Given the description of an element on the screen output the (x, y) to click on. 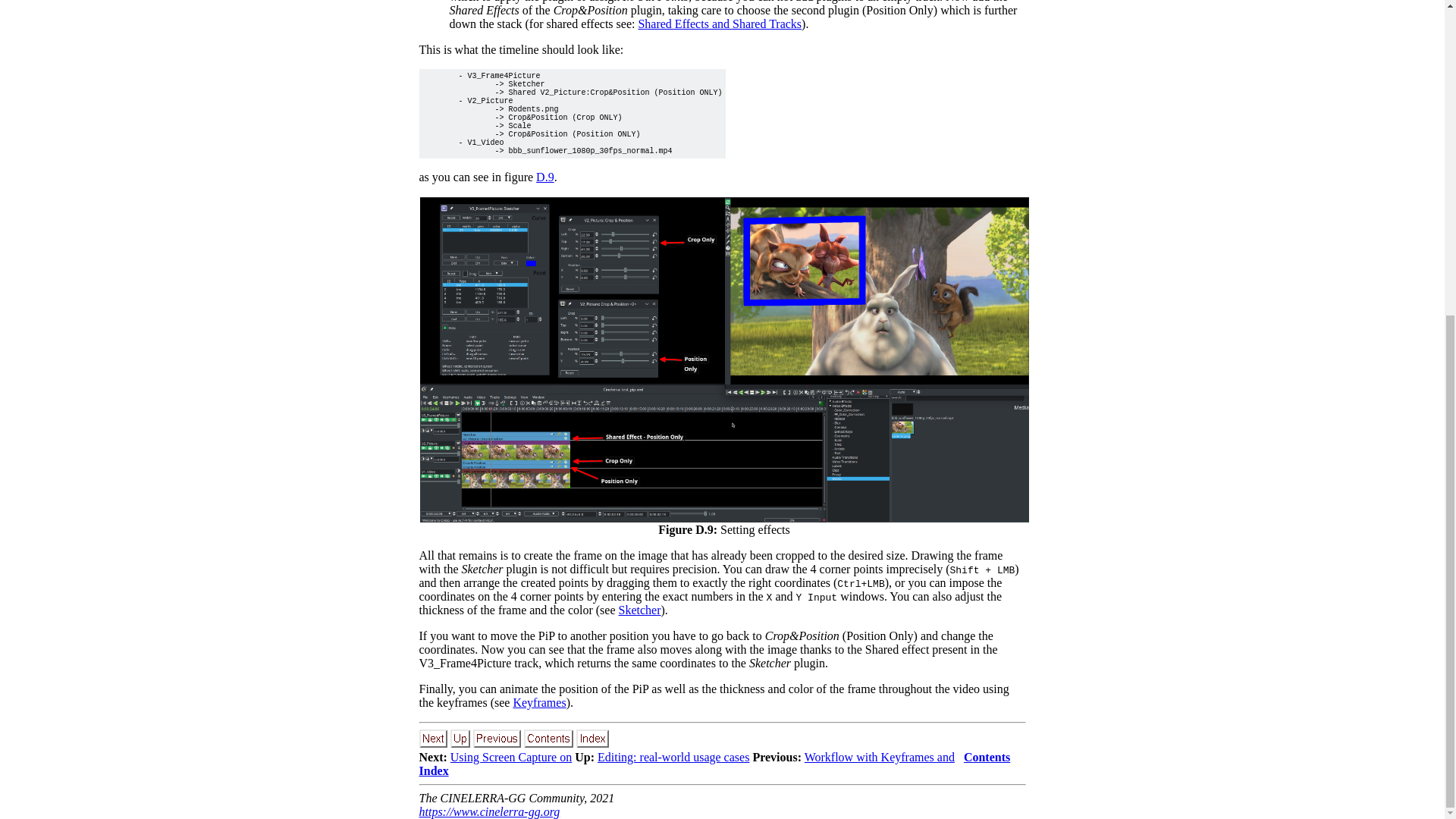
Index (433, 770)
Editing: real-world usage cases (672, 757)
Sketcher (639, 609)
Shared Effects and Shared Tracks (719, 23)
Workflow with Keyframes and (880, 757)
D.9 (544, 176)
Using Screen Capture on (510, 757)
Contents (986, 757)
Keyframes (539, 702)
